Given the description of an element on the screen output the (x, y) to click on. 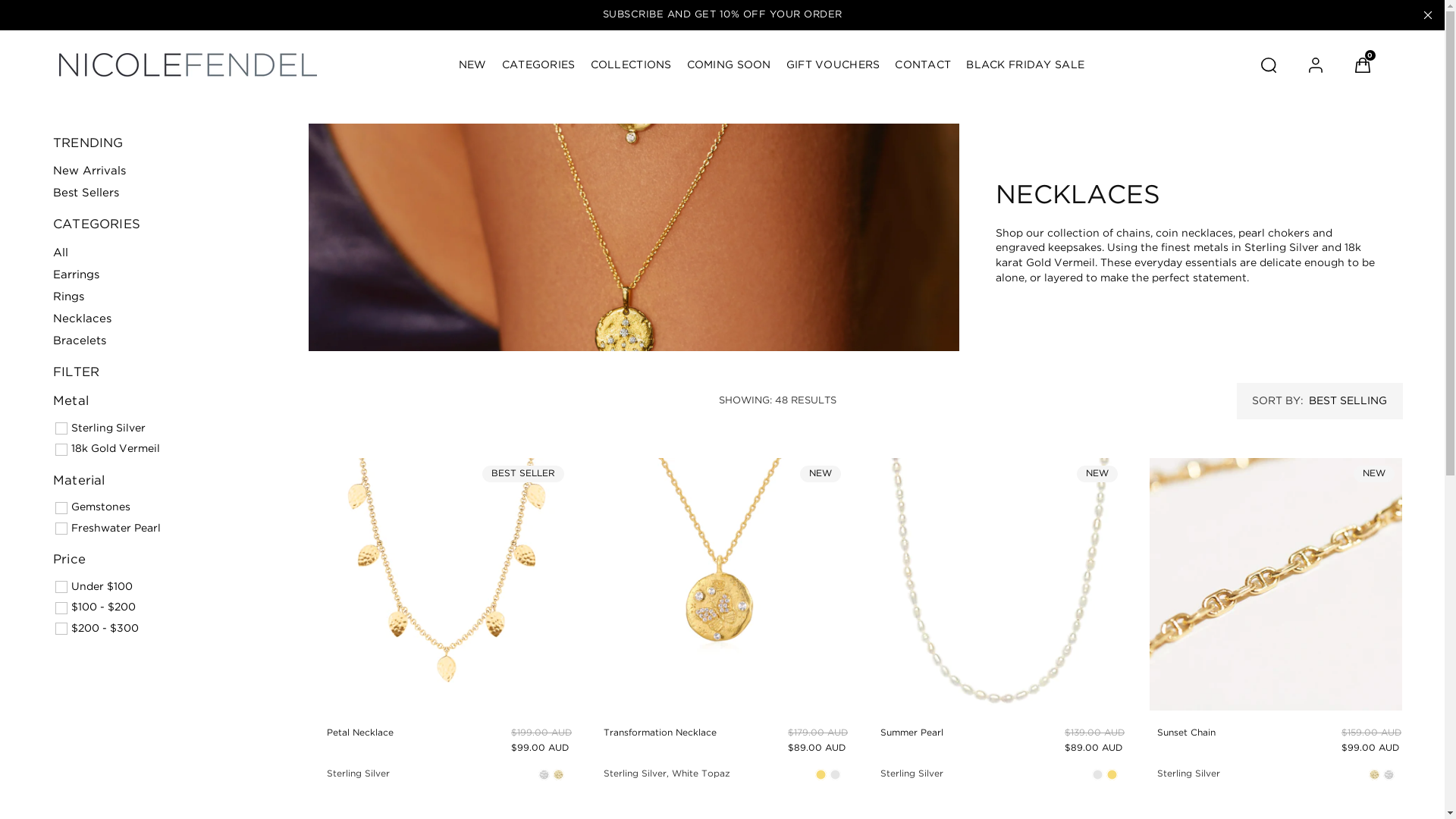
18kGoldVermeil Element type: hover (820, 774)
hammered-18kGoldVermeil Element type: hover (558, 774)
Earrings Element type: text (76, 274)
SterlingSilver Element type: hover (834, 774)
COLLECTIONS Element type: text (630, 65)
GIFT VOUCHERS Element type: text (833, 65)
New Arrivals Element type: text (89, 170)
COMING SOON Element type: text (729, 65)
Petal Necklace Element type: text (363, 733)
Sunset Chain Element type: text (1190, 733)
NEW Element type: text (472, 65)
hammered-18kGoldVermeil Element type: hover (1374, 774)
CATEGORIES Element type: text (538, 65)
Necklaces Element type: text (82, 318)
0 Element type: text (1362, 64)
Settings Element type: hover (1315, 64)
hammered-SterlingSilver Element type: hover (543, 774)
hammered-SterlingSilver Element type: hover (1388, 774)
Rings Element type: text (68, 296)
CONTACT Element type: text (922, 65)
All Element type: text (60, 252)
18kGoldVermeil Element type: hover (1111, 774)
SterlingSilver Element type: hover (1097, 774)
Search Element type: hover (1268, 64)
Summer Pearl Element type: text (915, 733)
BLACK FRIDAY SALE Element type: text (1025, 65)
Bracelets Element type: text (79, 340)
Best Sellers Element type: text (86, 192)
Transformation Necklace Element type: text (663, 733)
Nicole Fendel Element type: text (187, 64)
